Given the description of an element on the screen output the (x, y) to click on. 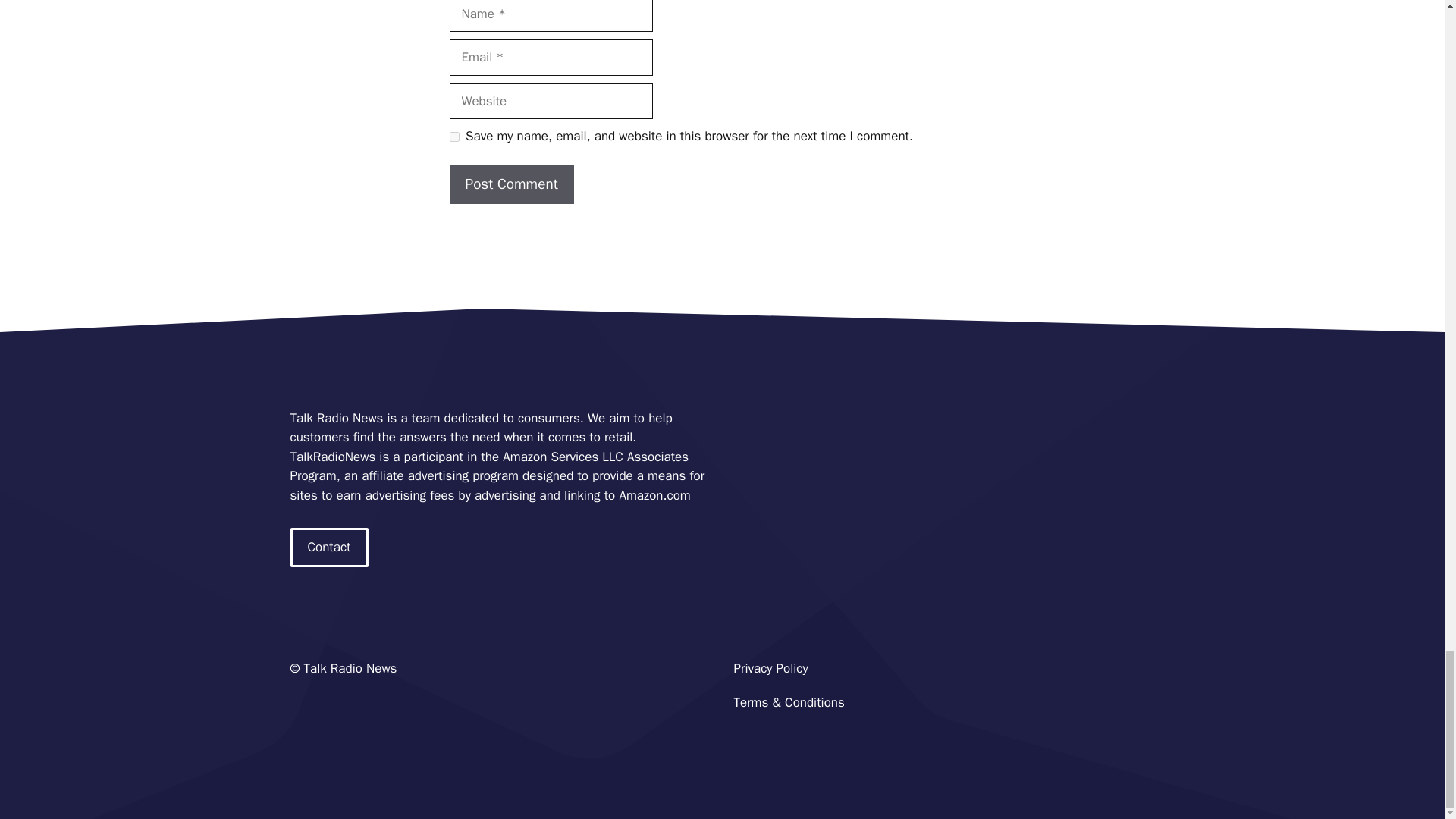
Post Comment (510, 184)
yes (453, 136)
Privacy Policy (770, 668)
Contact (328, 547)
Post Comment (510, 184)
